Given the description of an element on the screen output the (x, y) to click on. 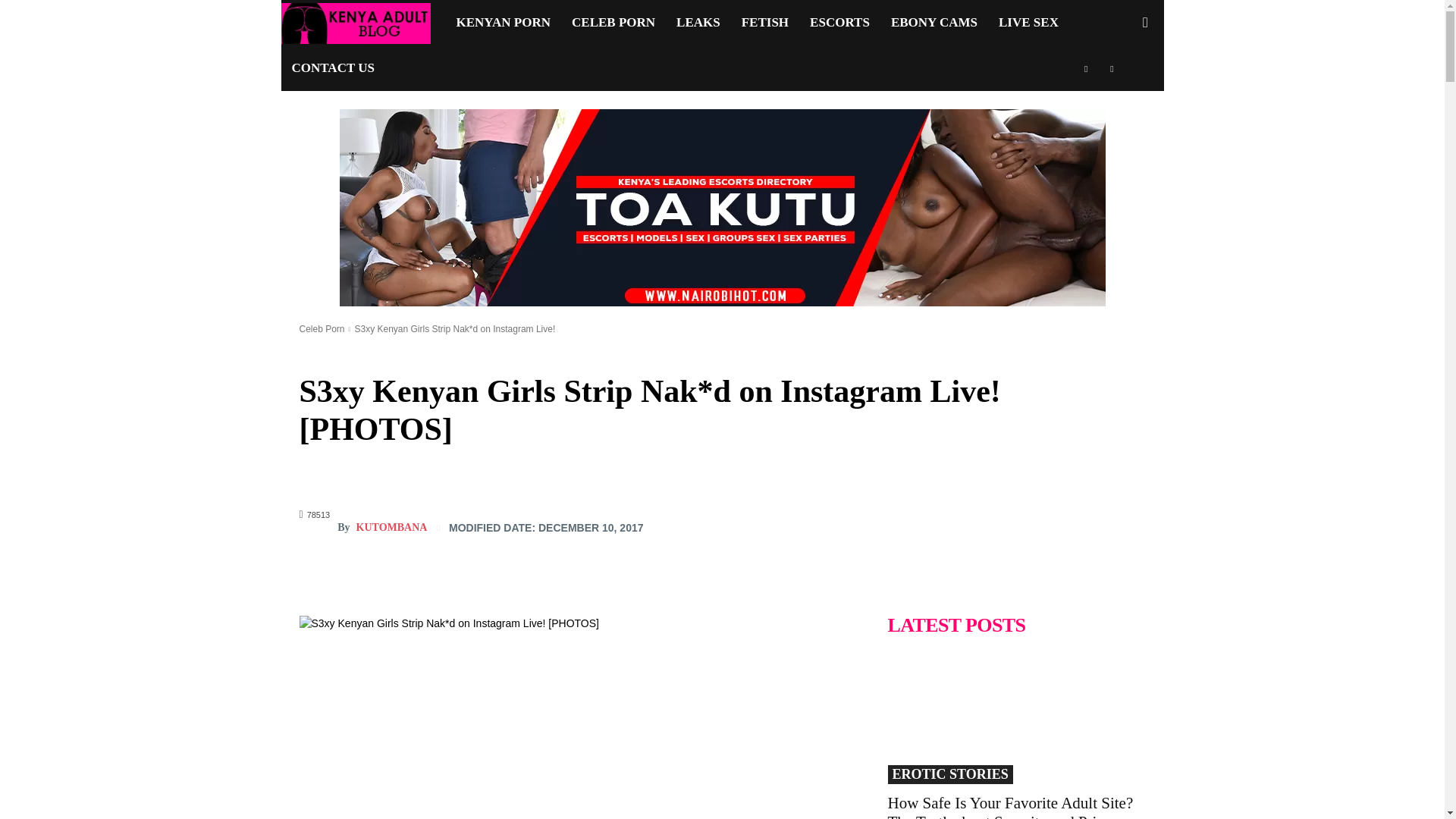
Kenya Porn Site (355, 22)
FETISH (764, 22)
EBONY CAMS (934, 22)
ESCORTS (839, 22)
Kenya Adult Blog (363, 22)
Search (1121, 87)
CONTACT US (332, 67)
LIVE SEX (1028, 22)
KENYAN PORN (503, 22)
